Given the description of an element on the screen output the (x, y) to click on. 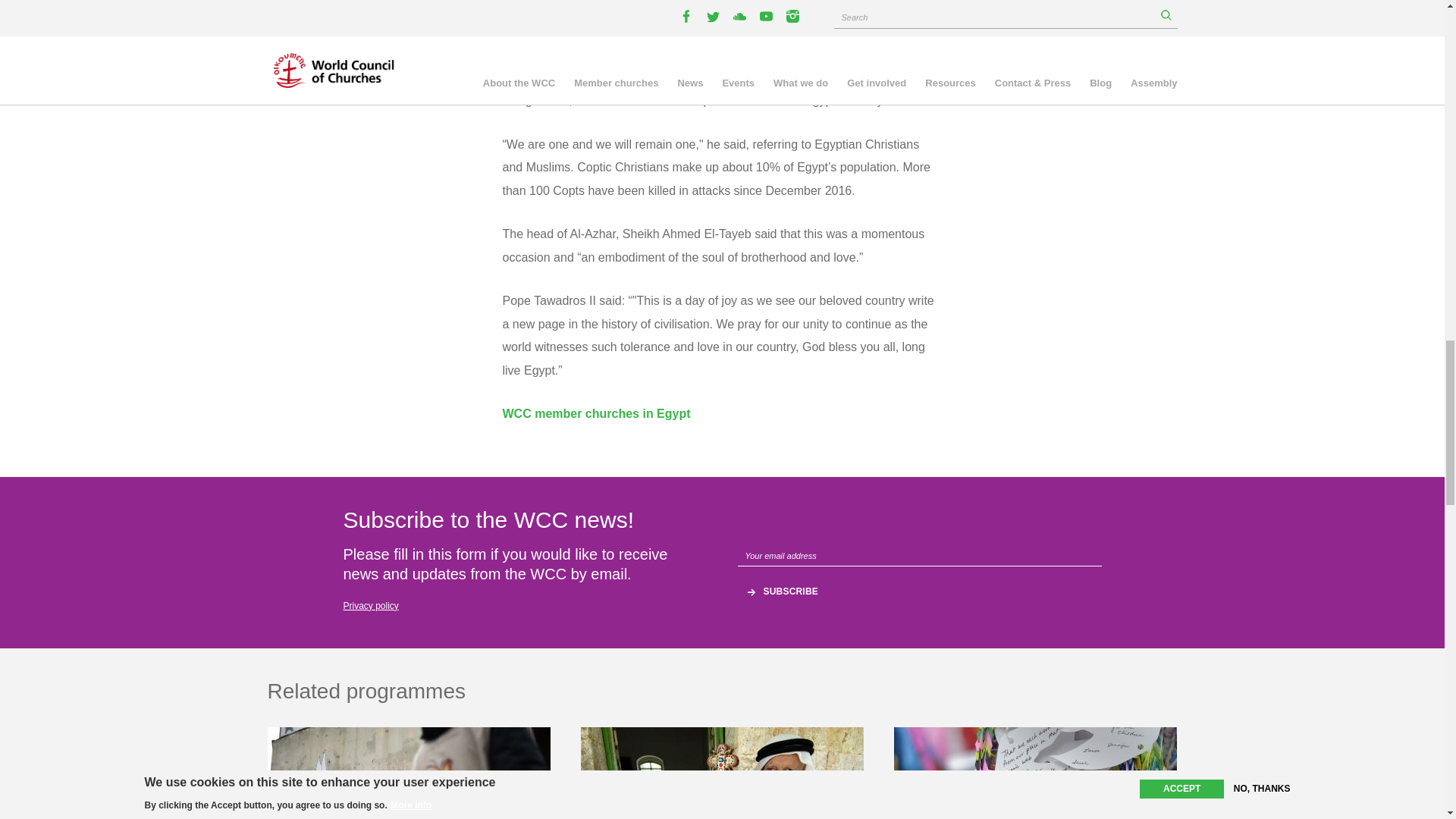
Subscribe (791, 592)
Solidarity with churches in the Middle East (721, 773)
Pilgrimage of Justice and Peace (1034, 773)
Peacebuilding: Middle East (721, 773)
Subscribe (791, 592)
WCC member churches in Egypt (596, 413)
Privacy policy (369, 605)
